Given the description of an element on the screen output the (x, y) to click on. 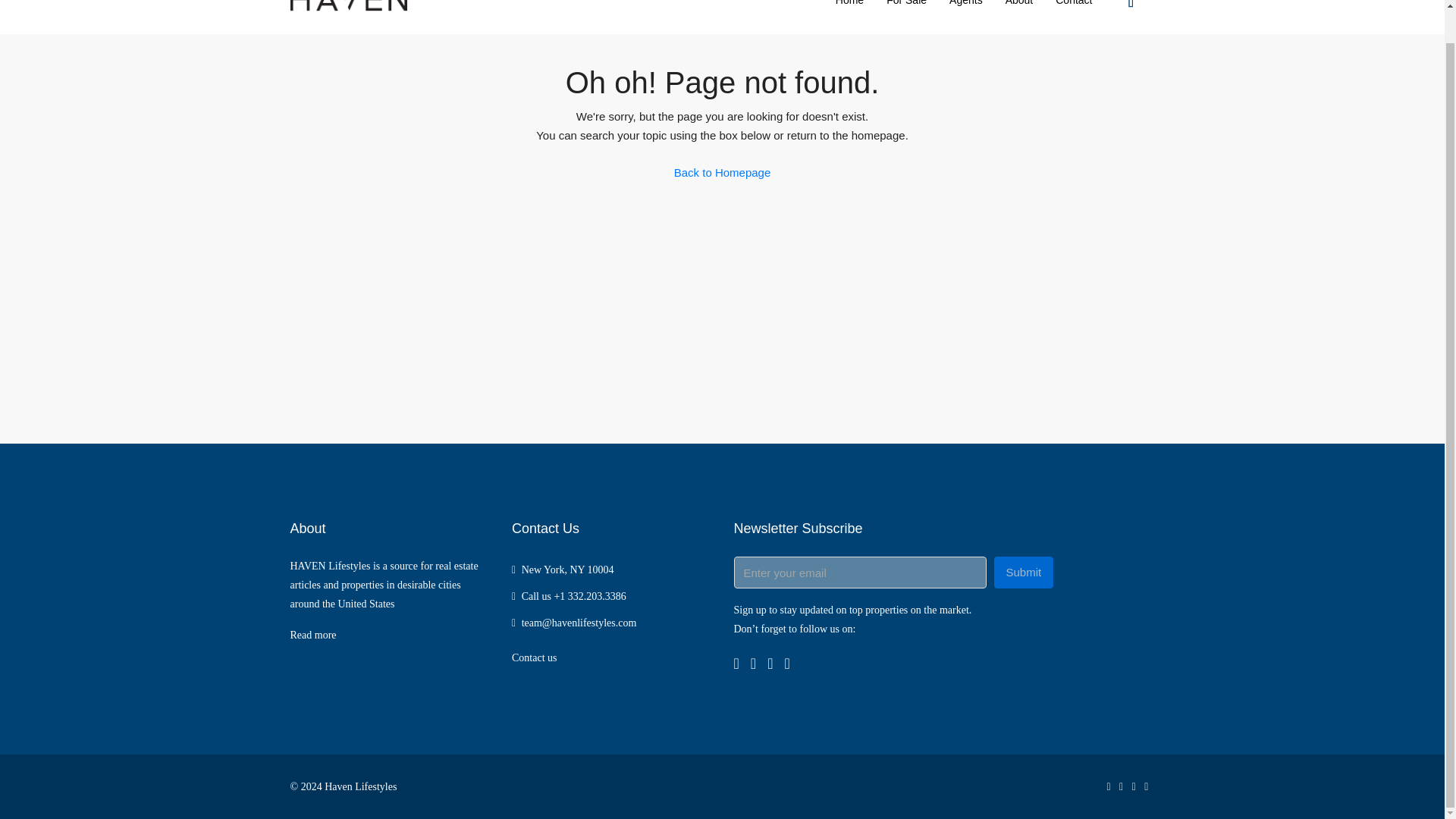
About (1019, 17)
Agents (965, 17)
Contact us (534, 657)
For Sale (906, 17)
Back to Homepage (722, 173)
Submit (1022, 572)
Home (849, 17)
Read more (312, 634)
Contact (1073, 17)
